Given the description of an element on the screen output the (x, y) to click on. 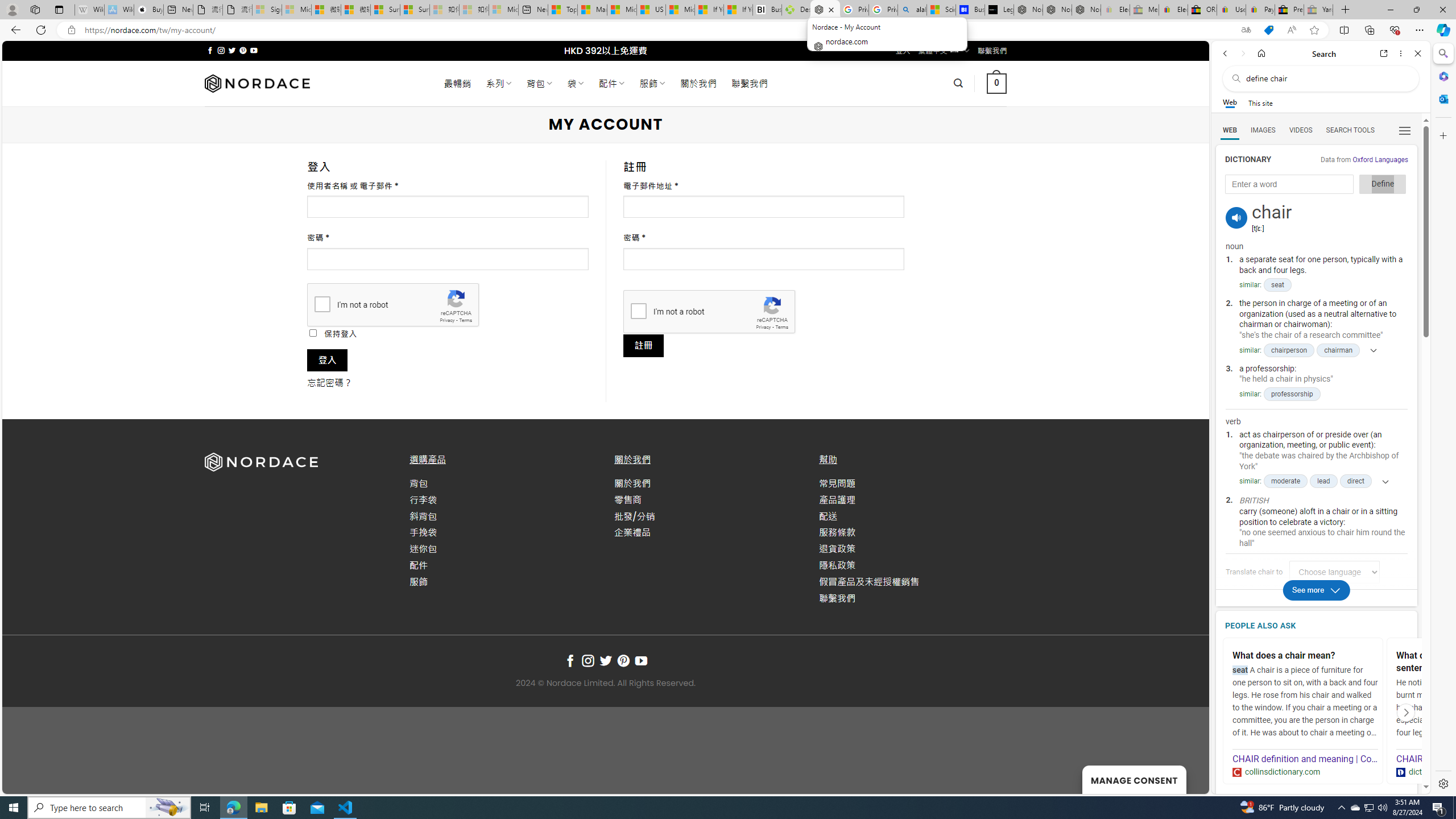
chairman (1337, 350)
lead (1324, 481)
